Given the description of an element on the screen output the (x, y) to click on. 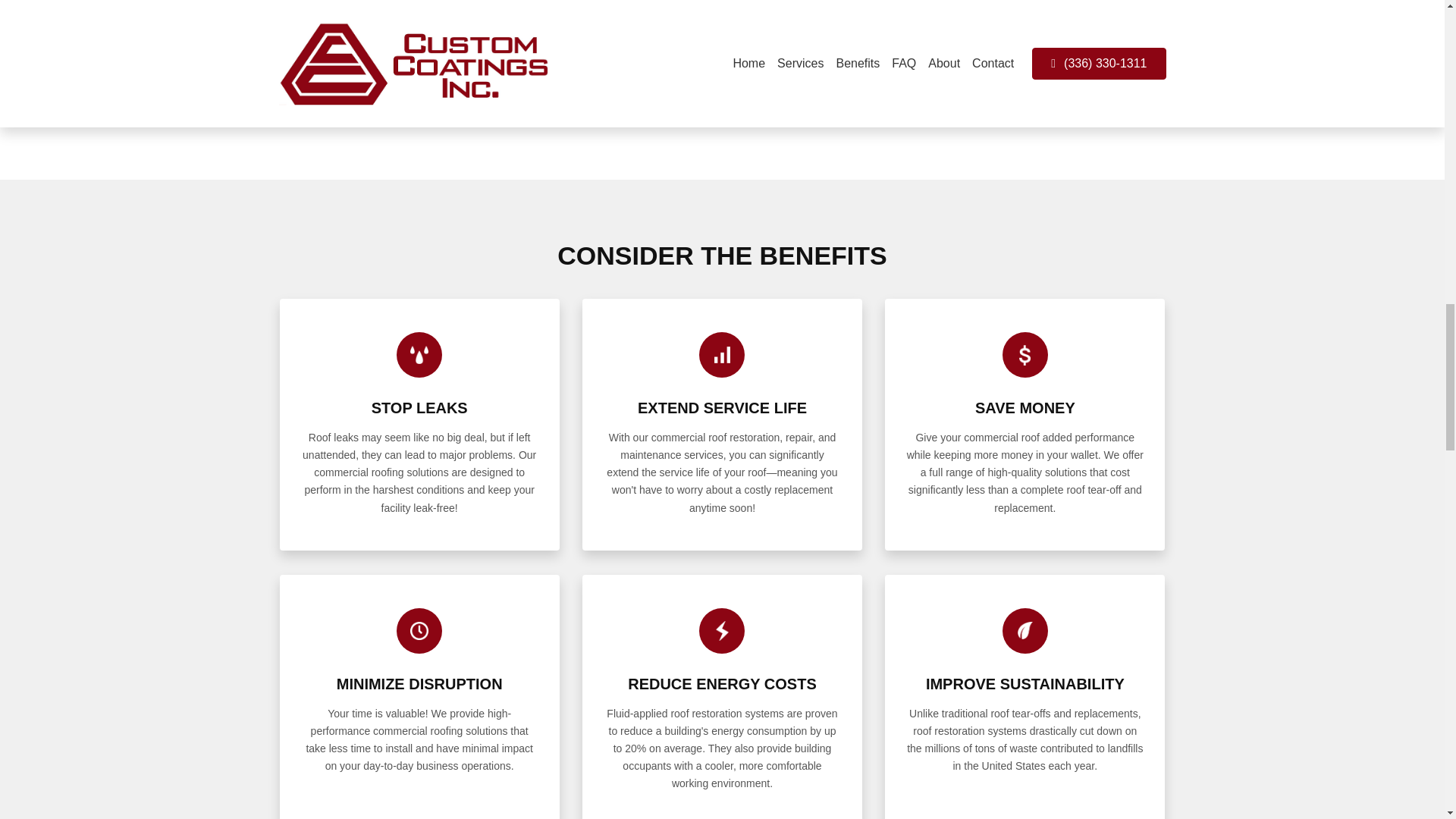
Previous (312, 45)
Next (1131, 45)
Click here to speak with a specialist. (829, 120)
